Given the description of an element on the screen output the (x, y) to click on. 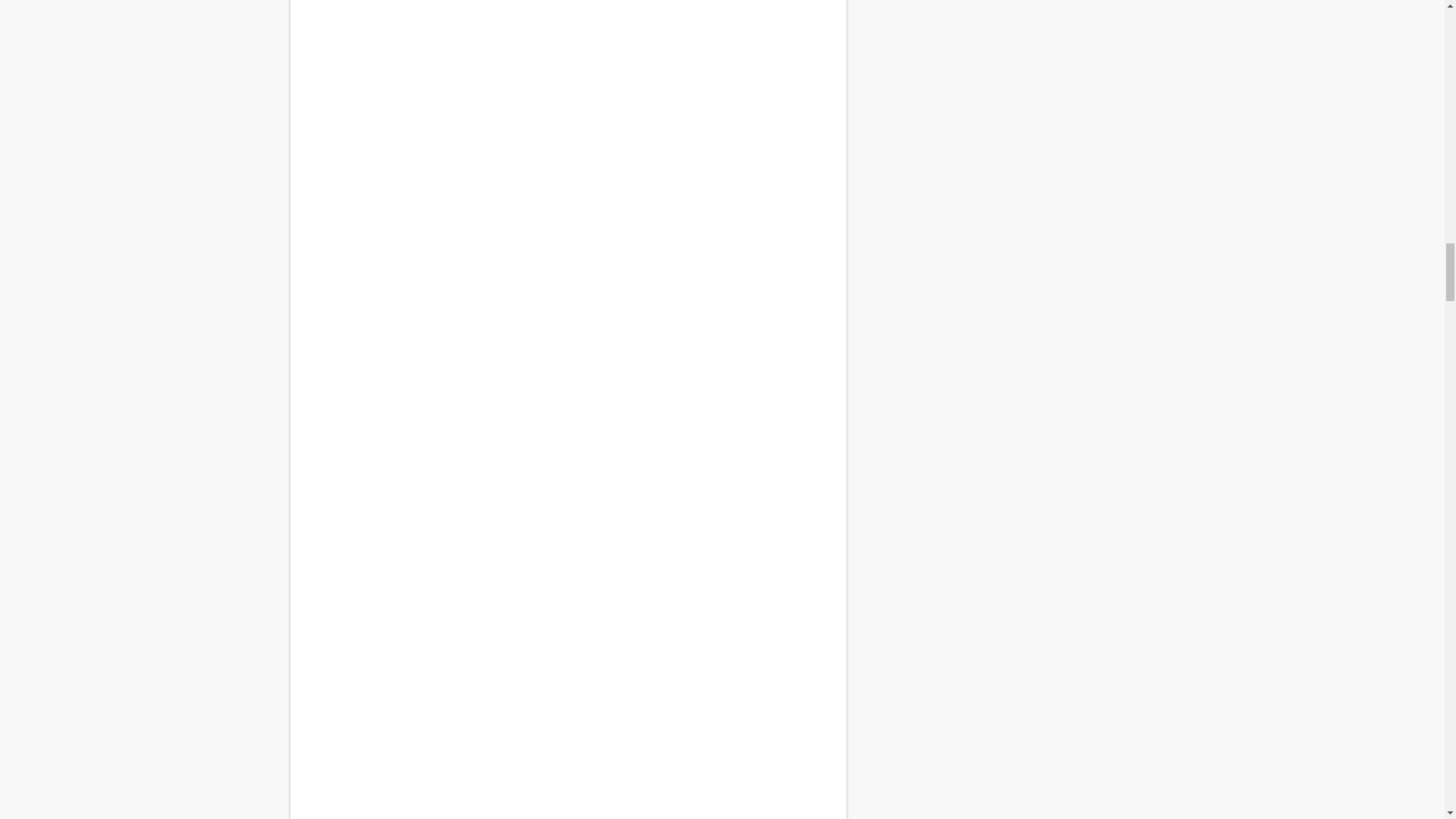
form of verbs (567, 415)
